Given the description of an element on the screen output the (x, y) to click on. 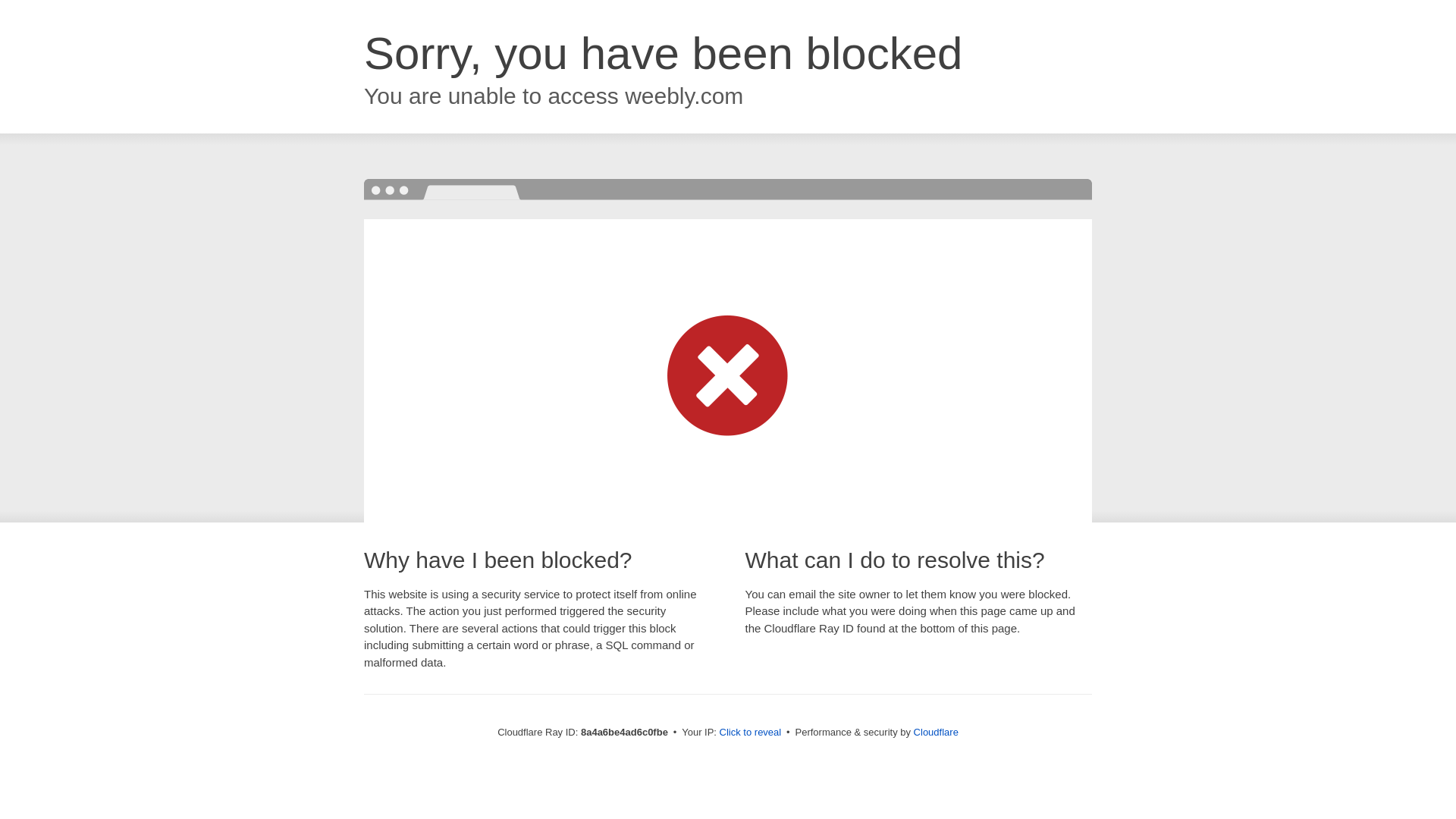
Cloudflare (936, 731)
Click to reveal (750, 732)
